Given the description of an element on the screen output the (x, y) to click on. 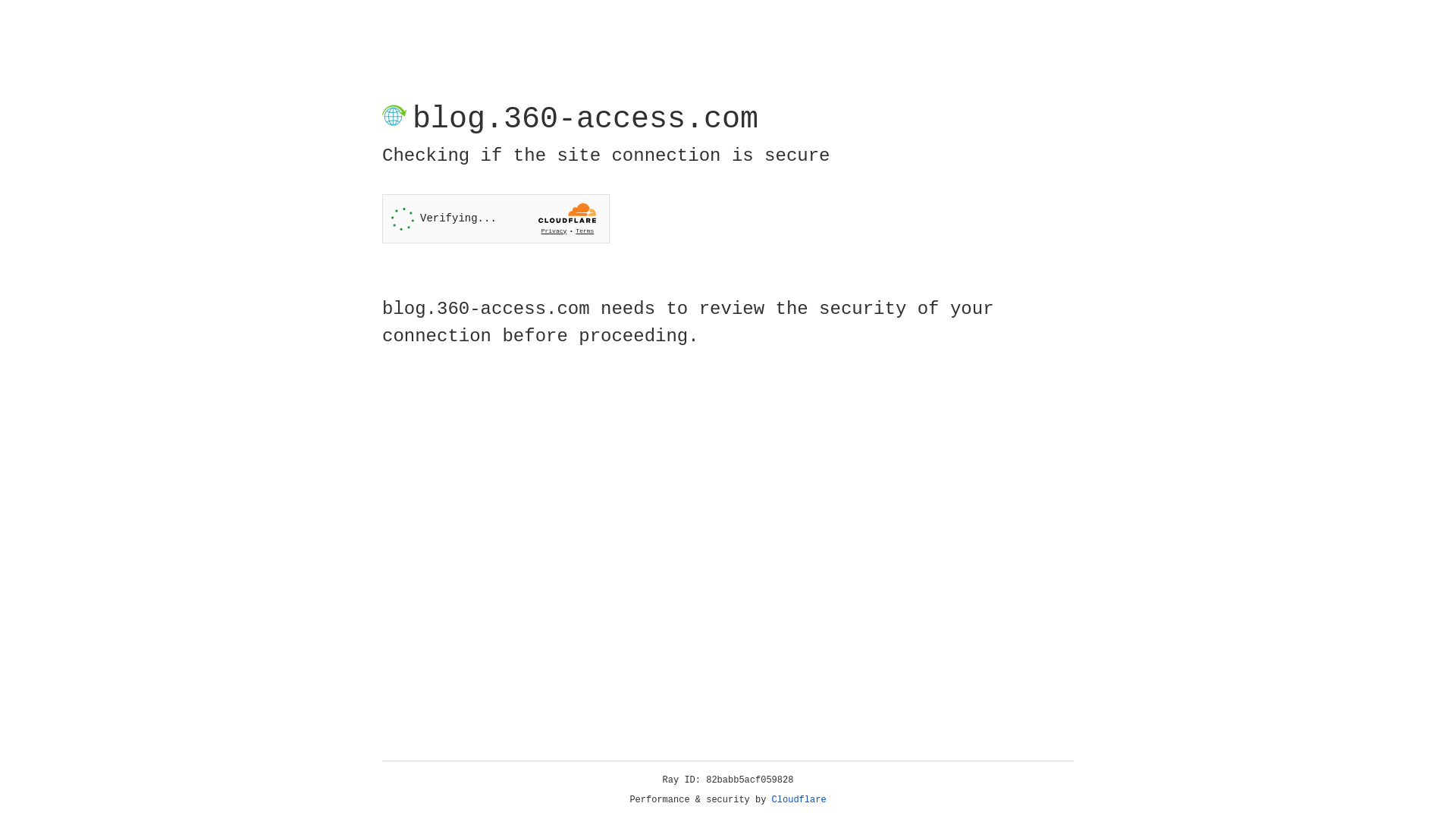
Cloudflare Element type: text (798, 799)
Widget containing a Cloudflare security challenge Element type: hover (495, 218)
